Given the description of an element on the screen output the (x, y) to click on. 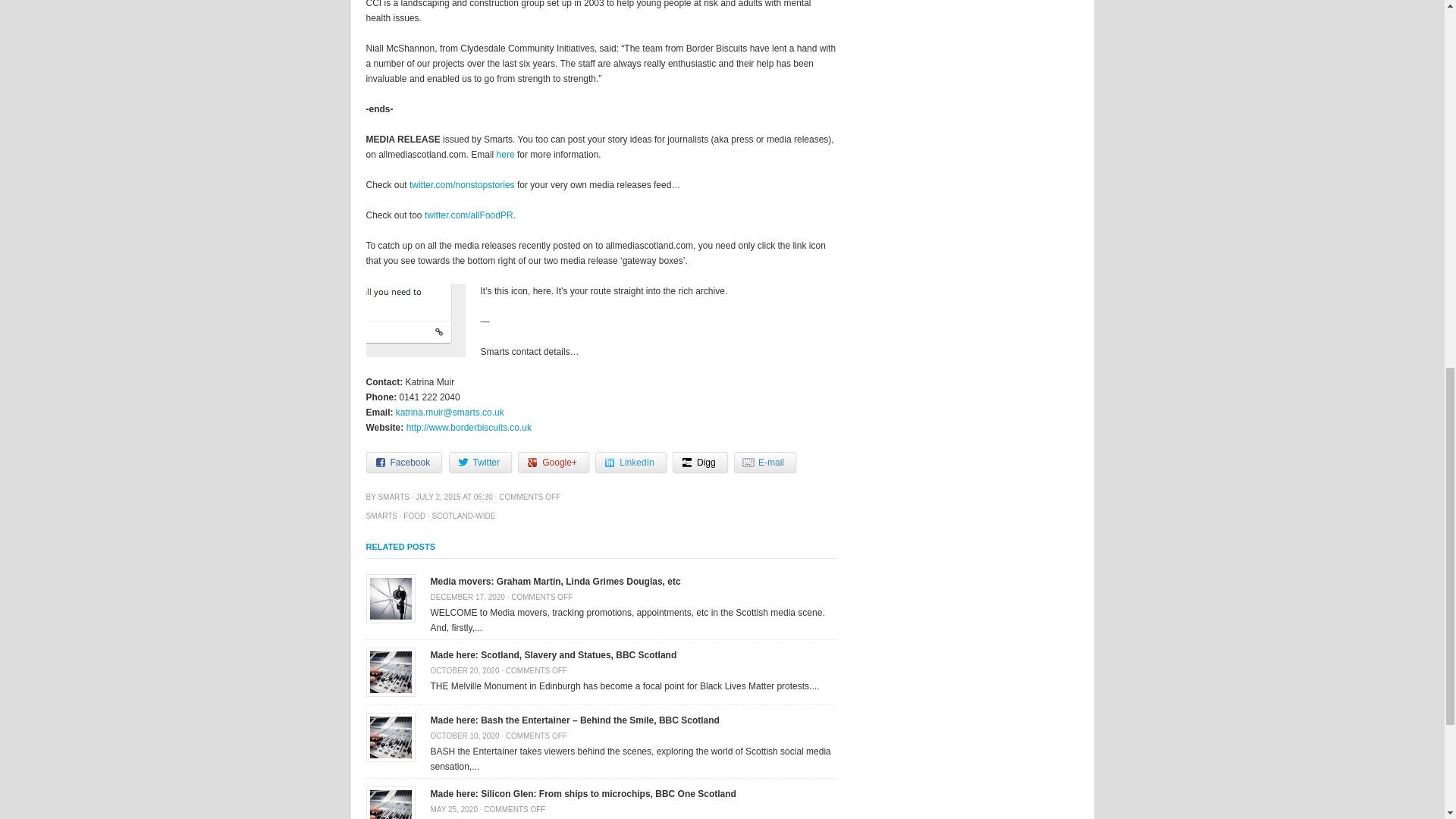
Share this article on Twitter (480, 462)
Share this article on Digg (700, 462)
Share this article on Facebook (403, 462)
Share this article on LinkedIn (630, 462)
